Given the description of an element on the screen output the (x, y) to click on. 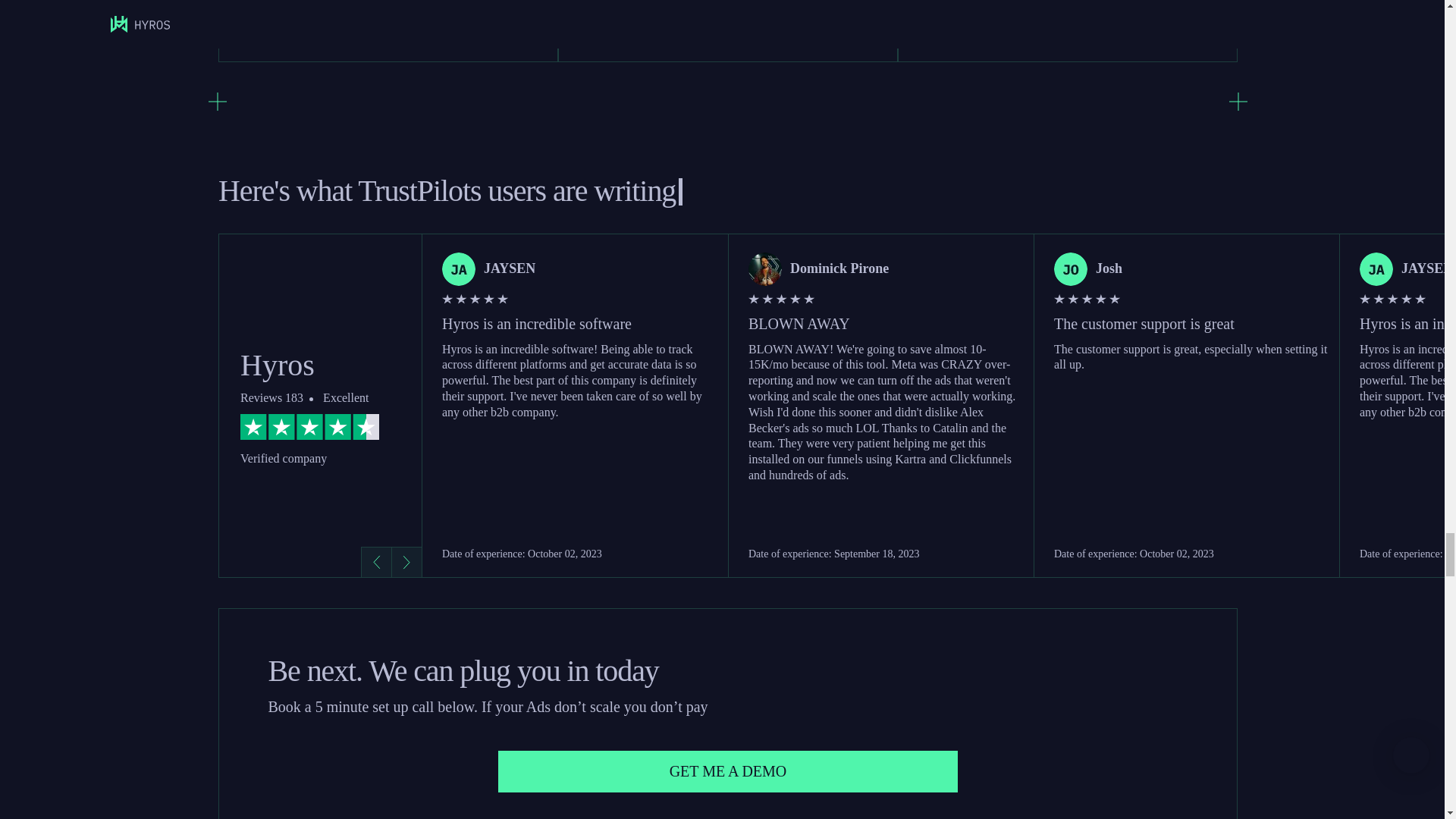
GET ME A DEMO (727, 771)
Next (406, 562)
Previous (376, 562)
